Given the description of an element on the screen output the (x, y) to click on. 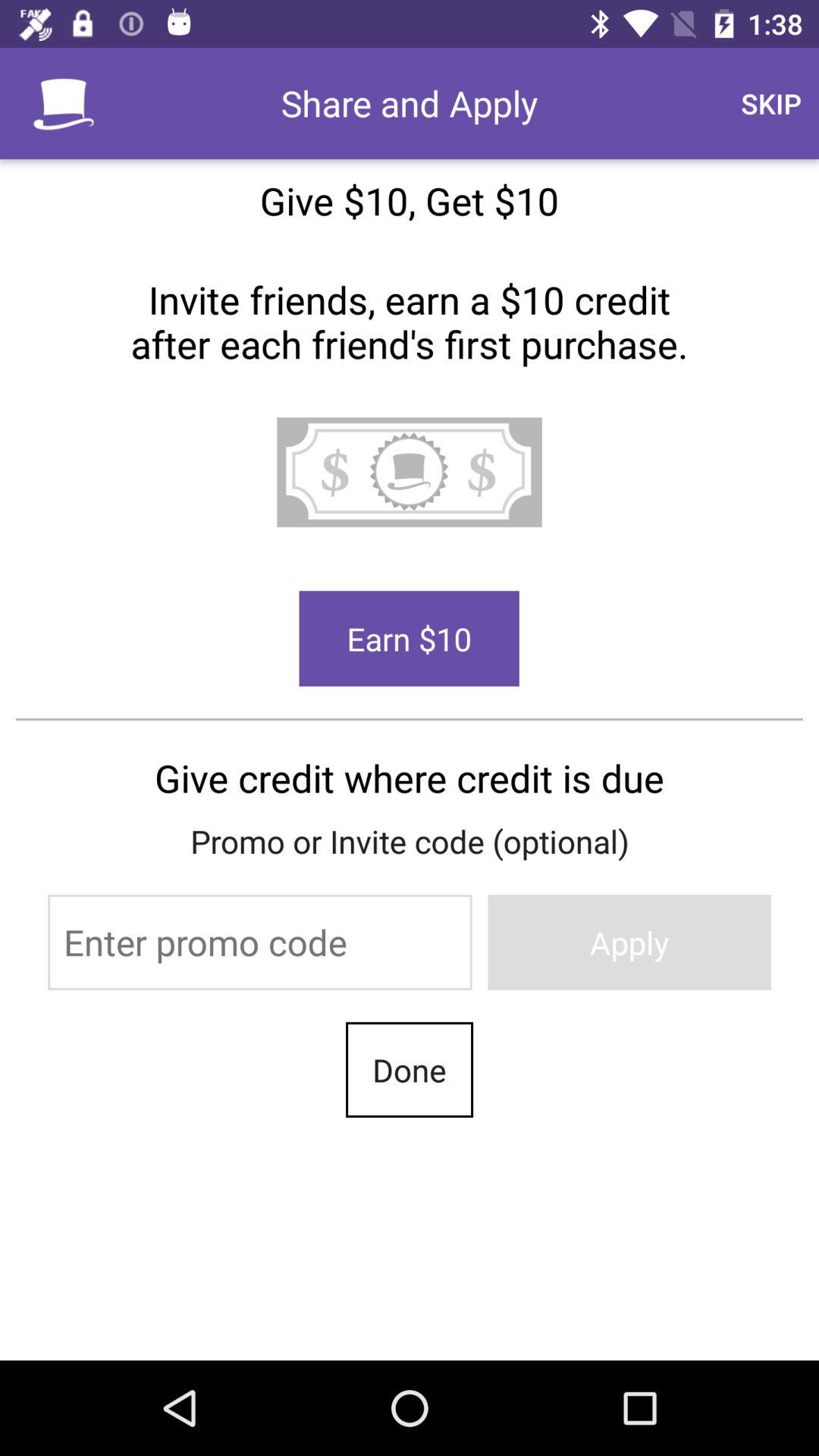
press the icon above the give 10 get item (771, 103)
